Given the description of an element on the screen output the (x, y) to click on. 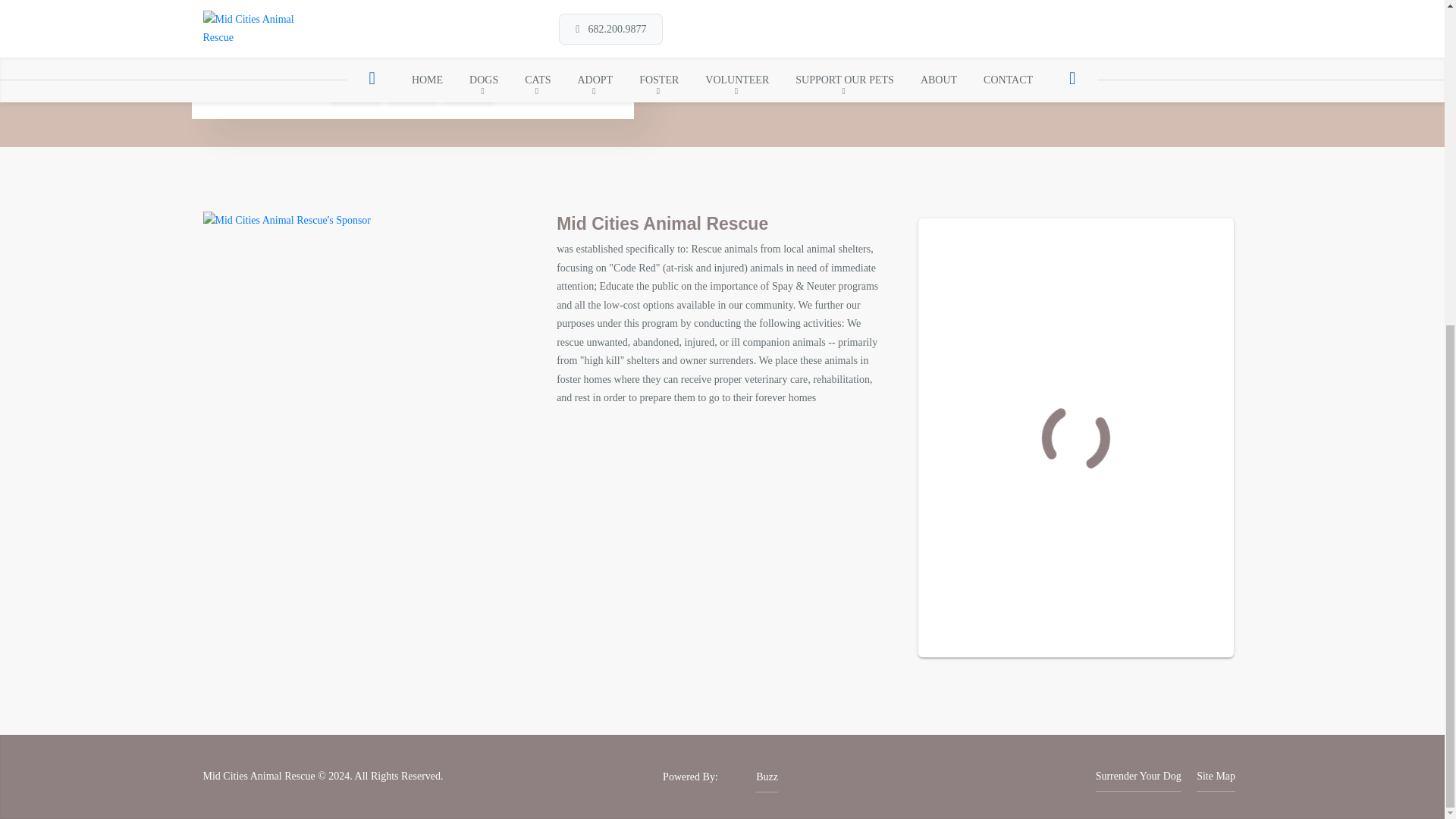
Rescue Your Rescues (750, 776)
POGO (412, 76)
Buzz (750, 776)
POGO (412, 21)
Mid Cities Animal Rescue's Sponsor (287, 219)
POGO (469, 76)
POGO (355, 76)
